Given the description of an element on the screen output the (x, y) to click on. 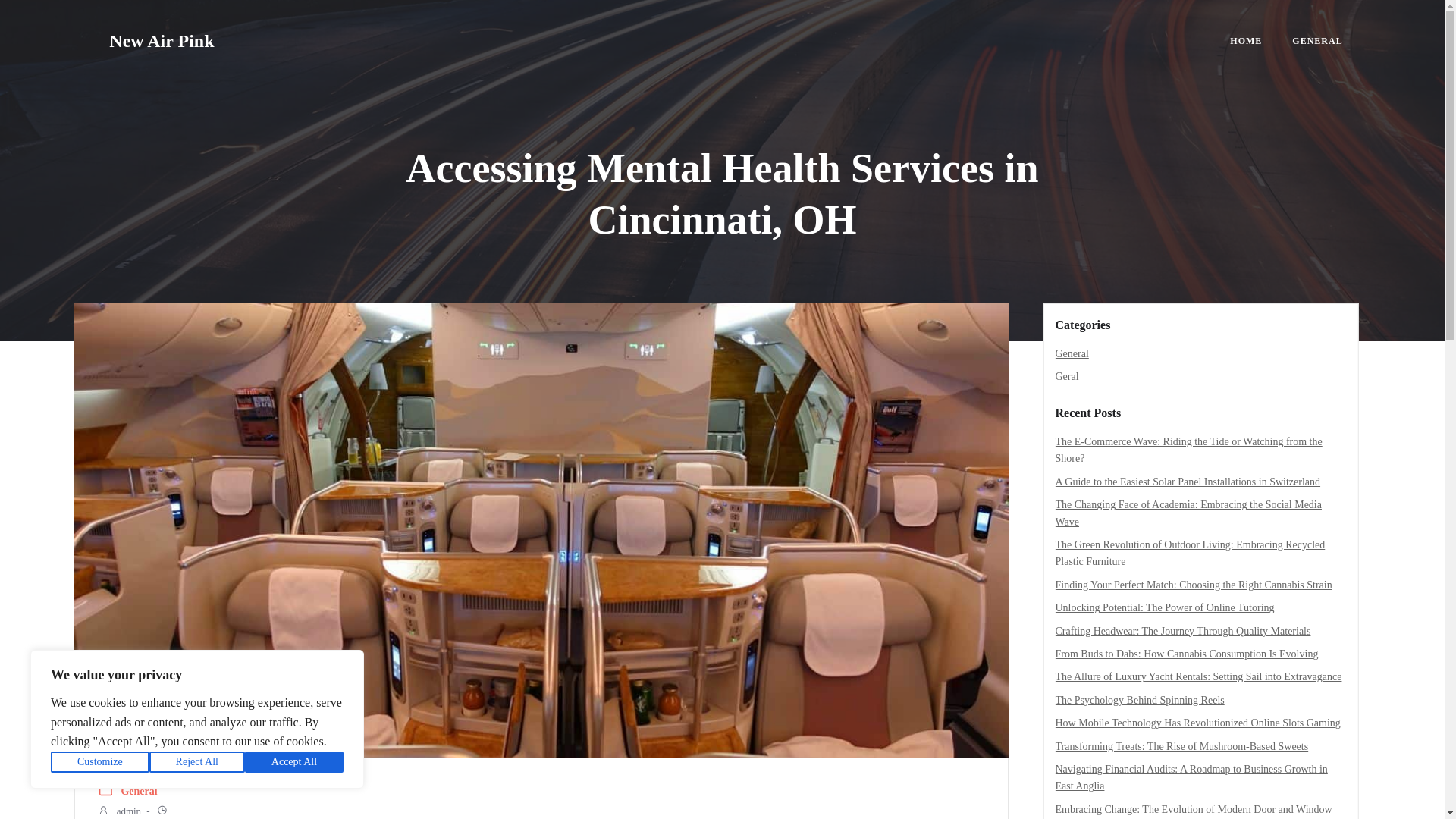
Reject All (196, 762)
New Air Pink (161, 40)
admin (119, 811)
General (1072, 353)
Customize (99, 762)
Geral (1066, 376)
GENERAL (1317, 40)
Accept All (293, 762)
